Given the description of an element on the screen output the (x, y) to click on. 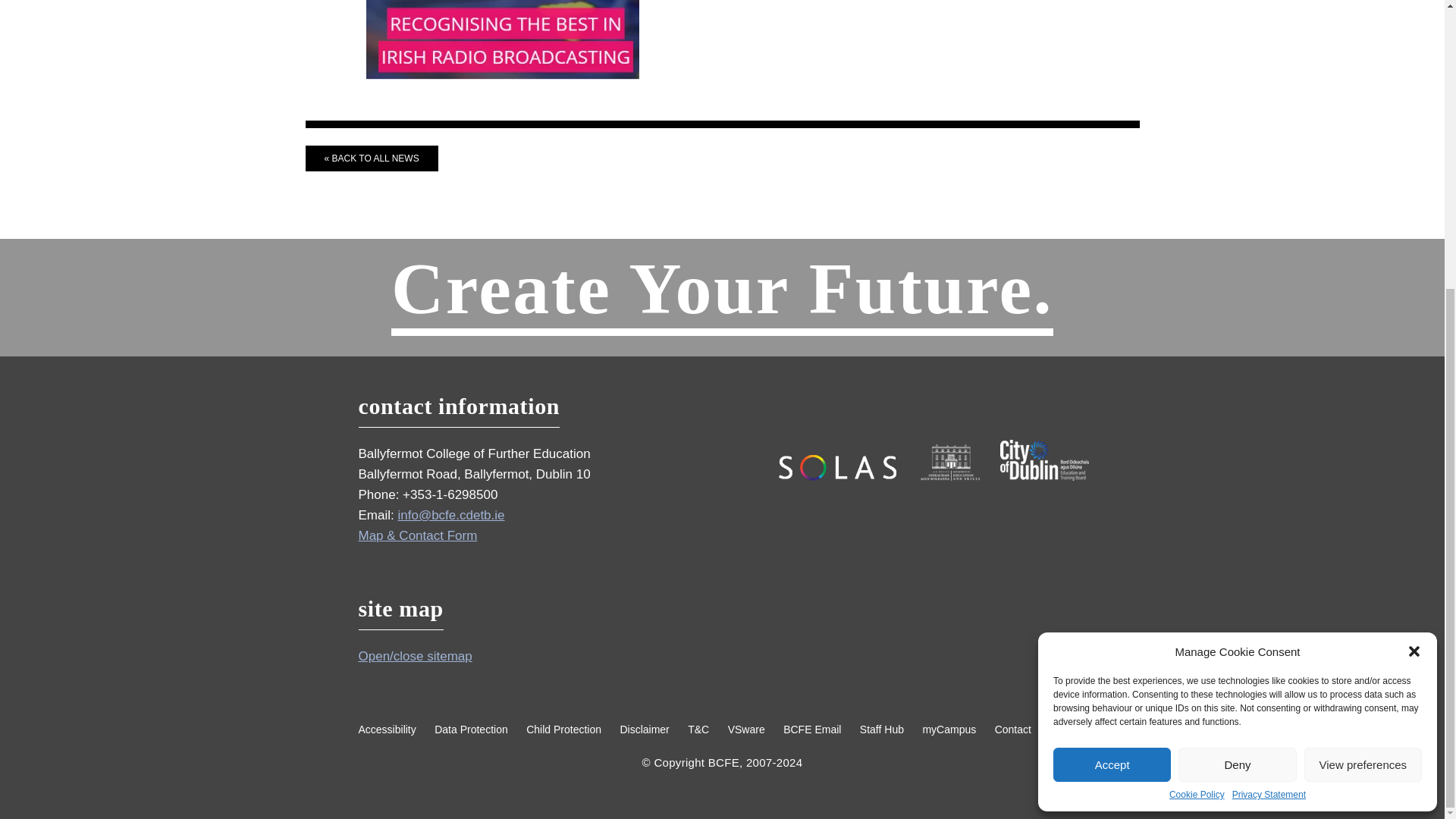
Accept (1111, 326)
Cookie Policy (1196, 356)
View preferences (1363, 326)
Privacy Statement (1268, 356)
Deny (1236, 326)
